Given the description of an element on the screen output the (x, y) to click on. 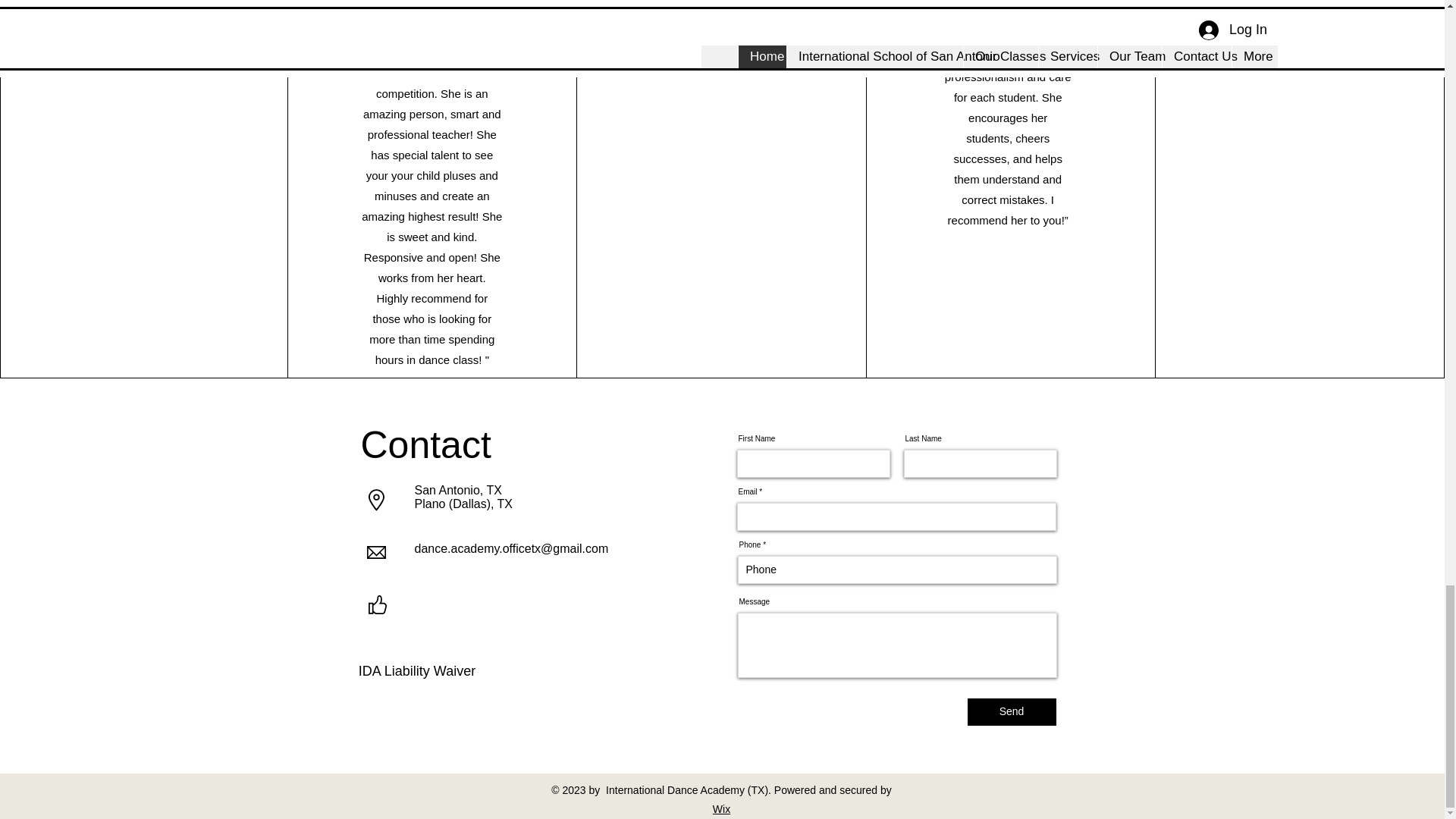
IDA Liability Waiver (417, 658)
Send (1012, 711)
IDA Liability Waiver (417, 658)
Wix (721, 808)
